Given the description of an element on the screen output the (x, y) to click on. 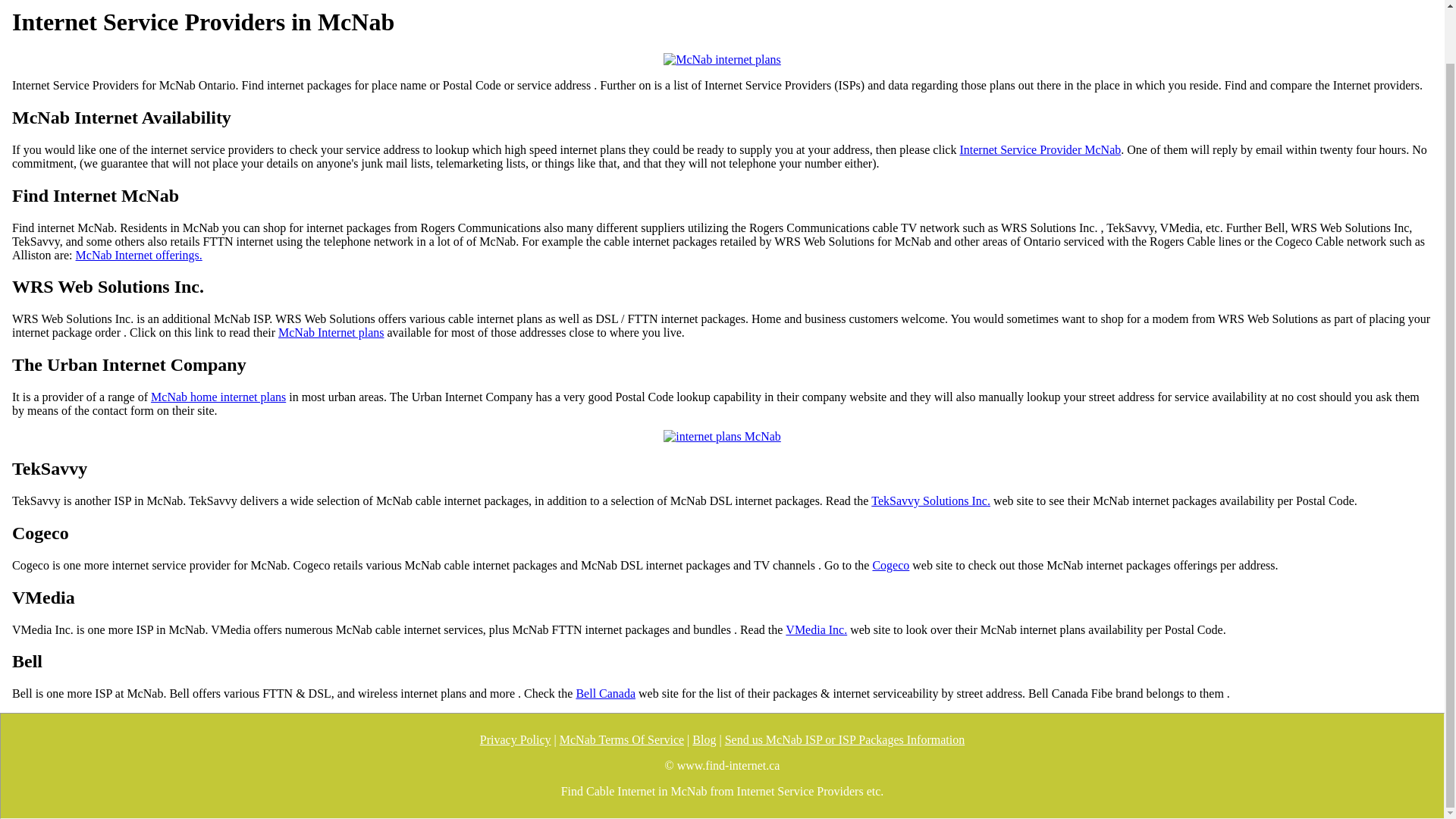
Blog (704, 739)
McNab Internet plans (331, 332)
Bell Canada (604, 694)
McNab Internet offerings. (138, 255)
TekSavvy Solutions Inc. (930, 500)
Cogeco (890, 565)
Internet Service Provider McNab (1040, 150)
Privacy Policy (515, 739)
Send us McNab ISP or ISP Packages Information (845, 739)
VMedia Inc. (816, 630)
